Given the description of an element on the screen output the (x, y) to click on. 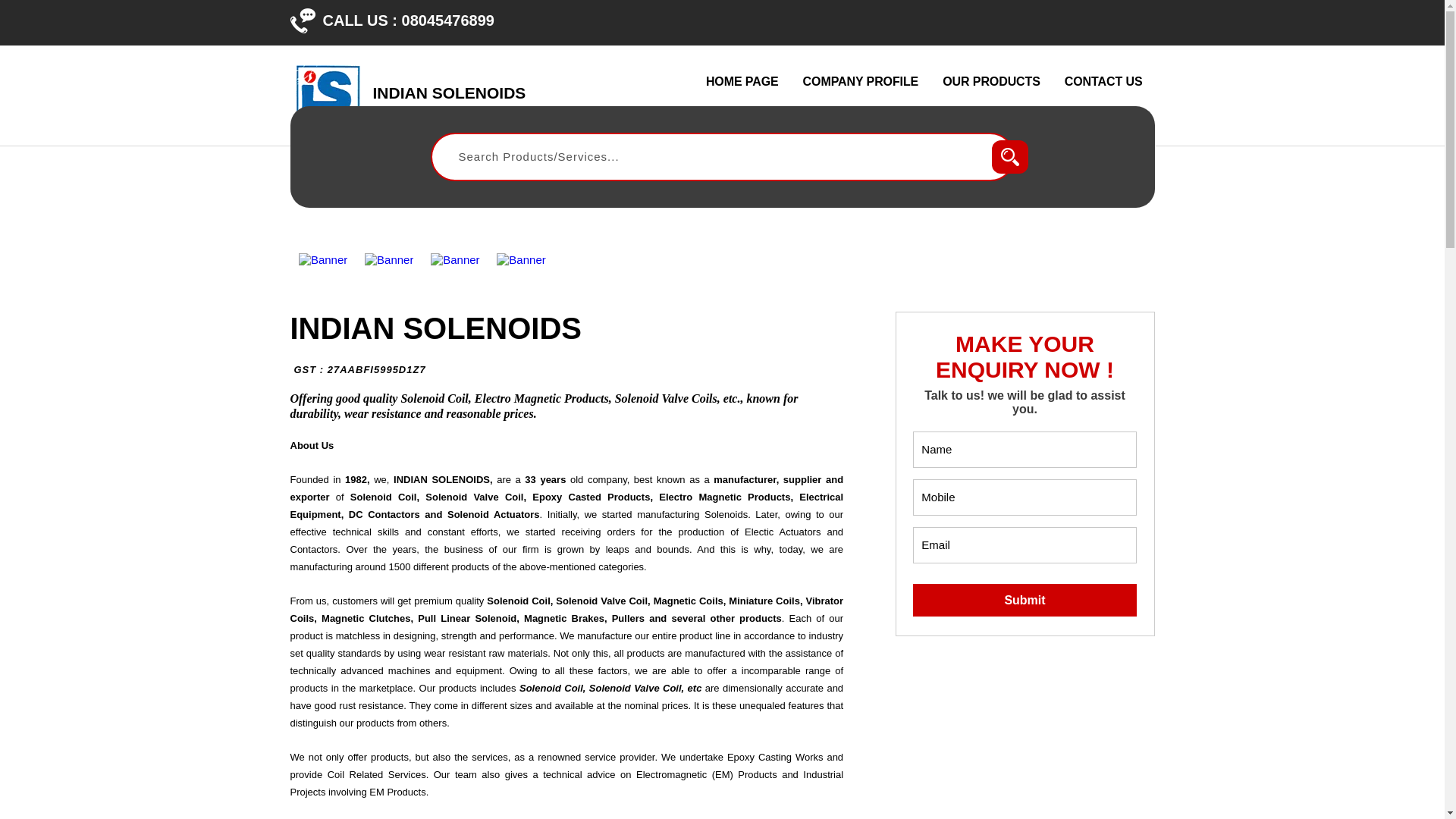
Mobile (1023, 497)
OUR PRODUCTS (991, 81)
Search (1009, 156)
CONTACT US (1103, 81)
Submit (1023, 599)
Name (1023, 449)
Call Us (301, 20)
COMPANY PROFILE (860, 81)
submit (448, 102)
